Given the description of an element on the screen output the (x, y) to click on. 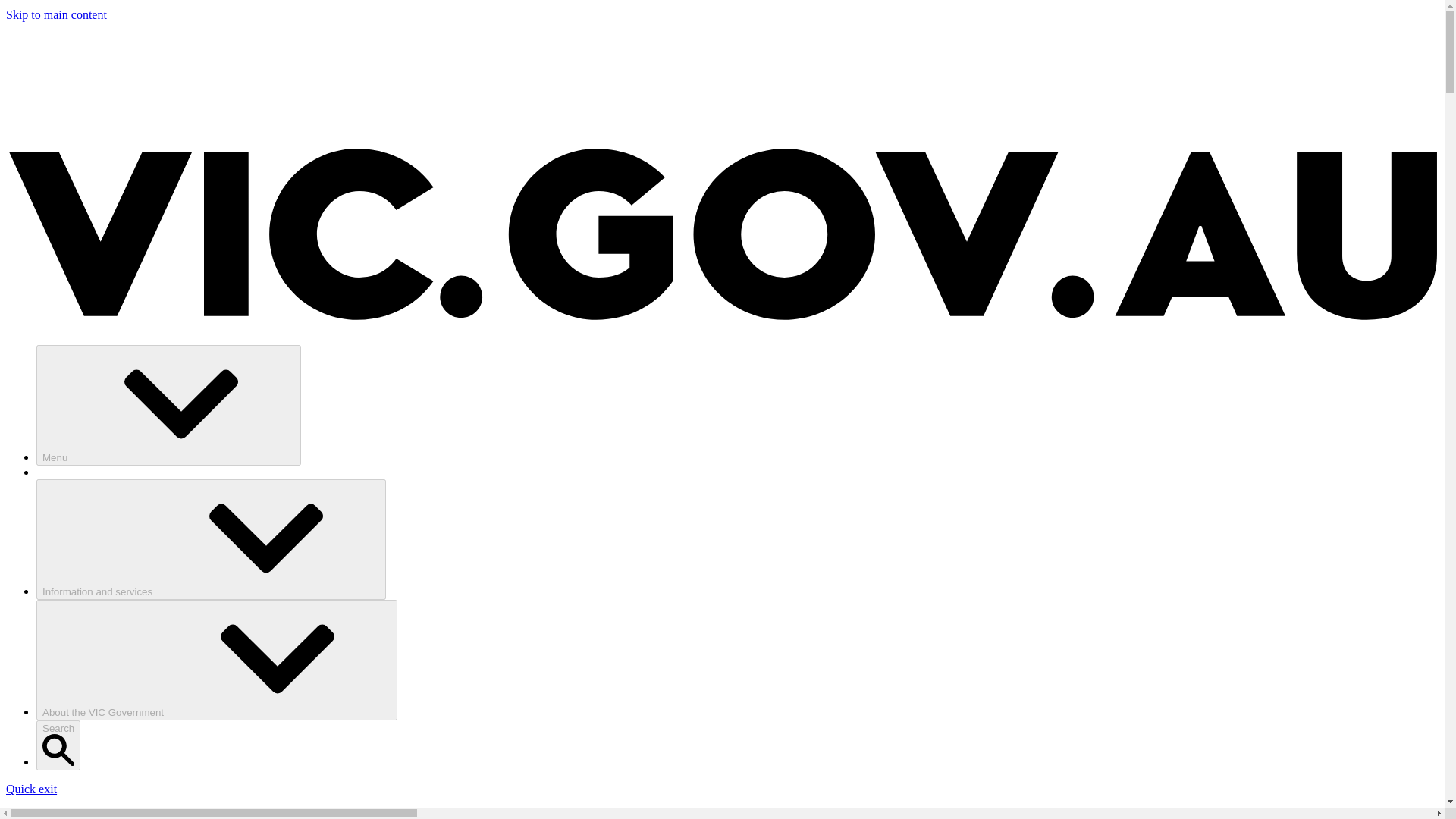
Skip to main content (55, 14)
Home (50, 813)
Quick exit (30, 788)
